Given the description of an element on the screen output the (x, y) to click on. 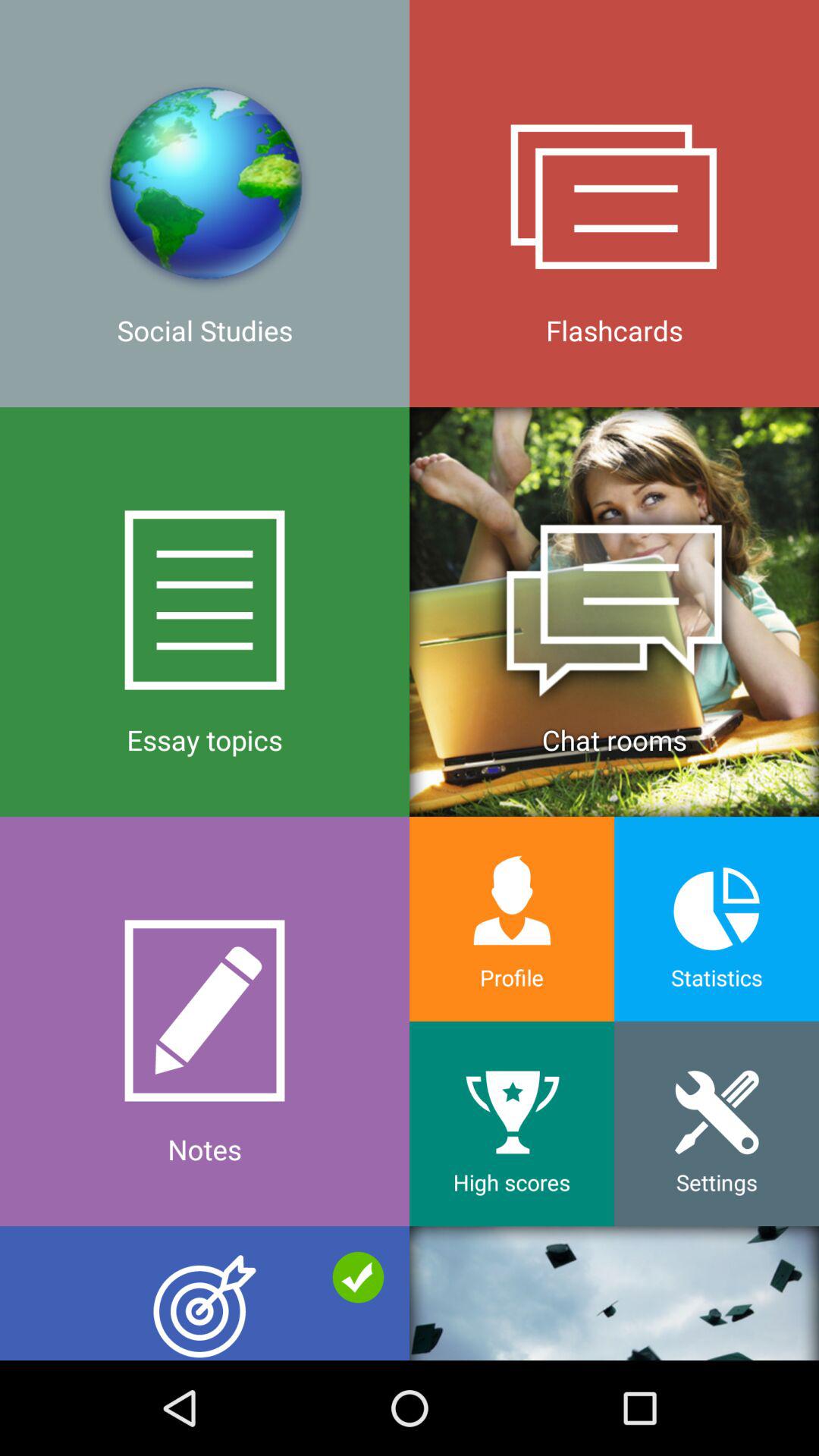
tap icon below the notes icon (204, 1293)
